Given the description of an element on the screen output the (x, y) to click on. 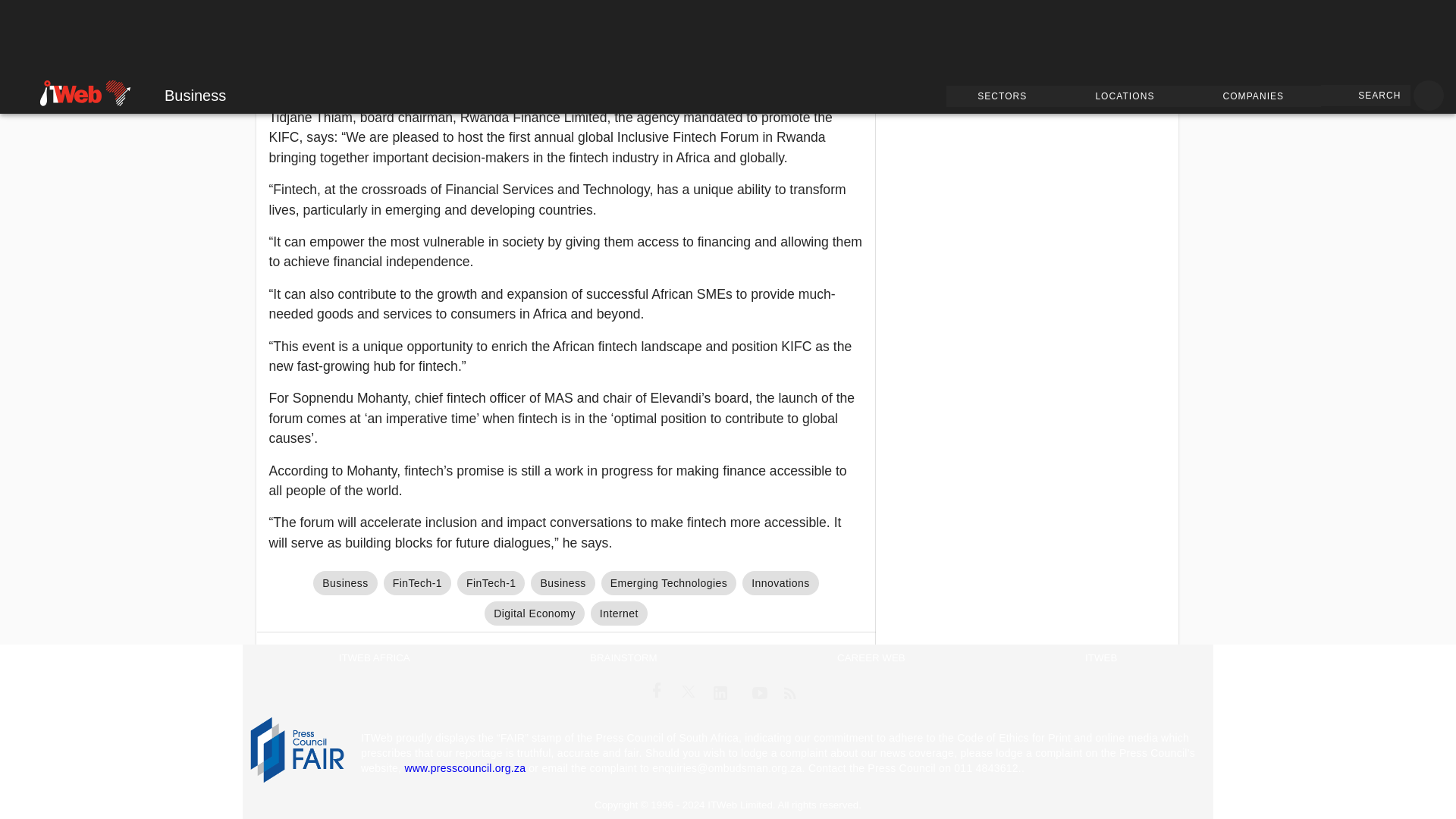
Youtube play icon (759, 692)
ITWEB (1100, 657)
CAREER WEB (871, 657)
FinTech-1 (490, 582)
FinTech-1 (417, 582)
Internet (619, 613)
Linkedin icon (720, 692)
RSS icon (789, 692)
Business (345, 582)
Innovations (780, 582)
